Given the description of an element on the screen output the (x, y) to click on. 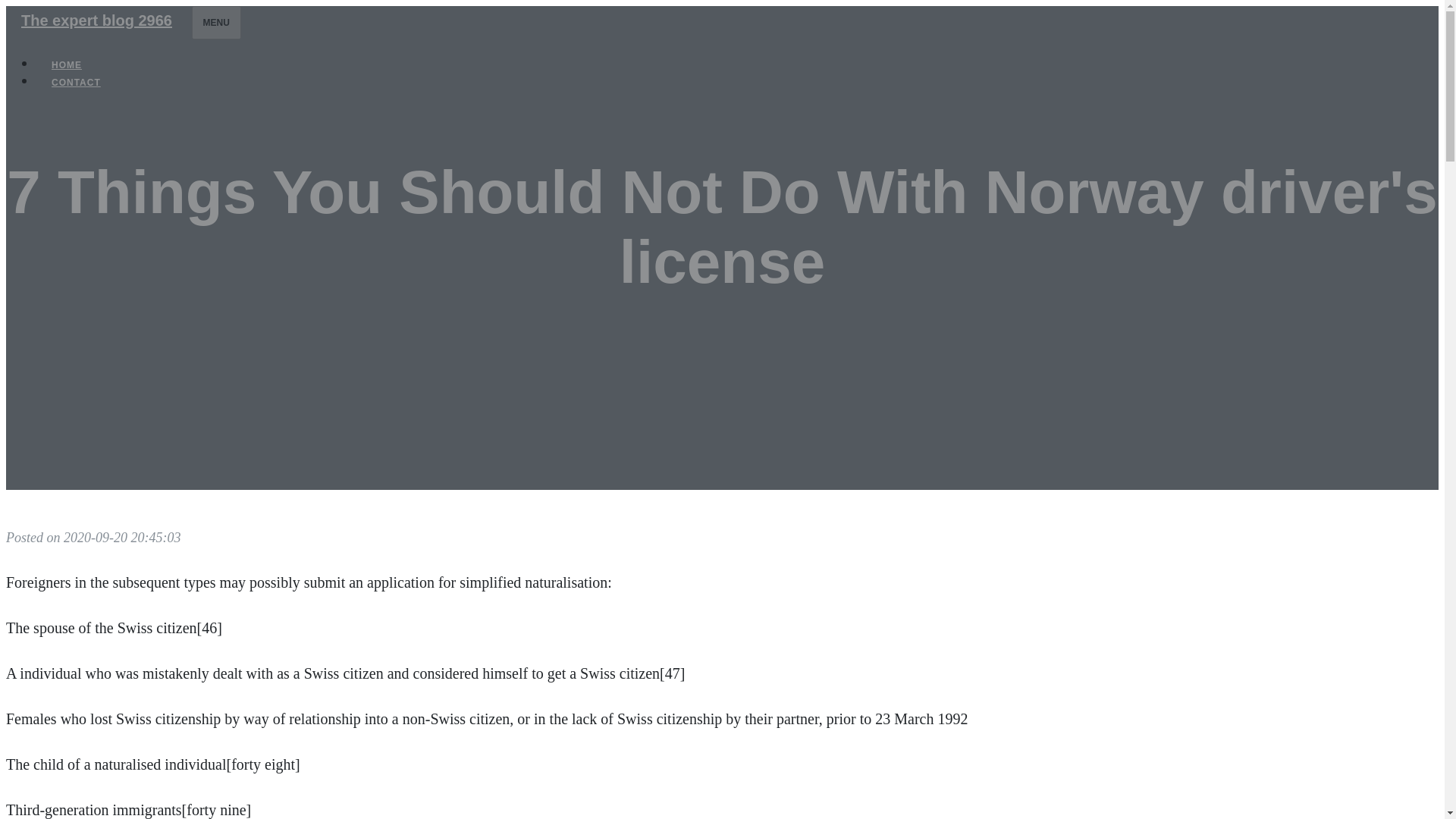
The expert blog 2966 (96, 20)
MENU (216, 22)
HOME (66, 64)
CONTACT (76, 82)
